Given the description of an element on the screen output the (x, y) to click on. 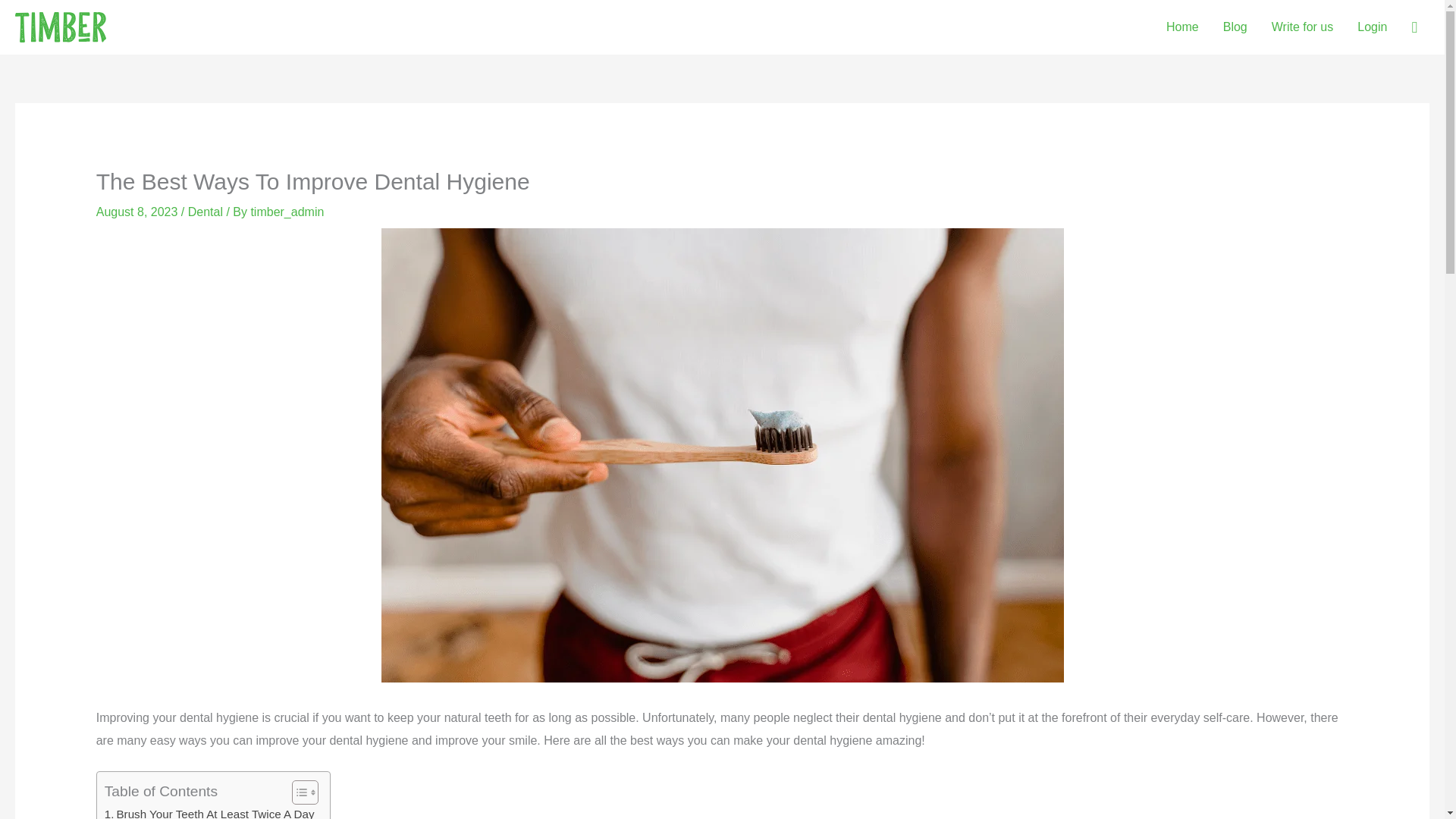
Login (1372, 27)
Write for us (1302, 27)
Dental (204, 211)
Brush Your Teeth At Least Twice A Day (209, 812)
Brush Your Teeth At Least Twice A Day (209, 812)
Home (1182, 27)
Blog (1235, 27)
